Given the description of an element on the screen output the (x, y) to click on. 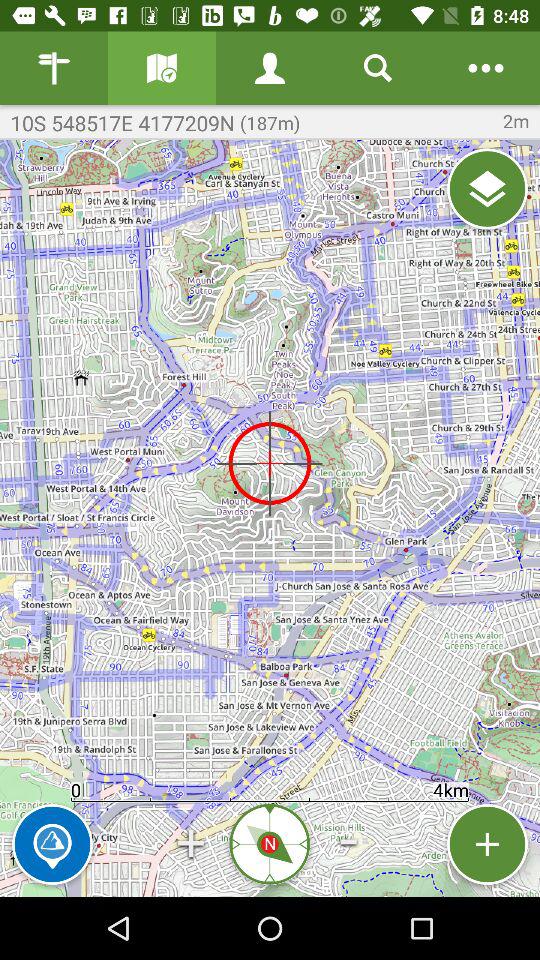
mark location (52, 844)
